Given the description of an element on the screen output the (x, y) to click on. 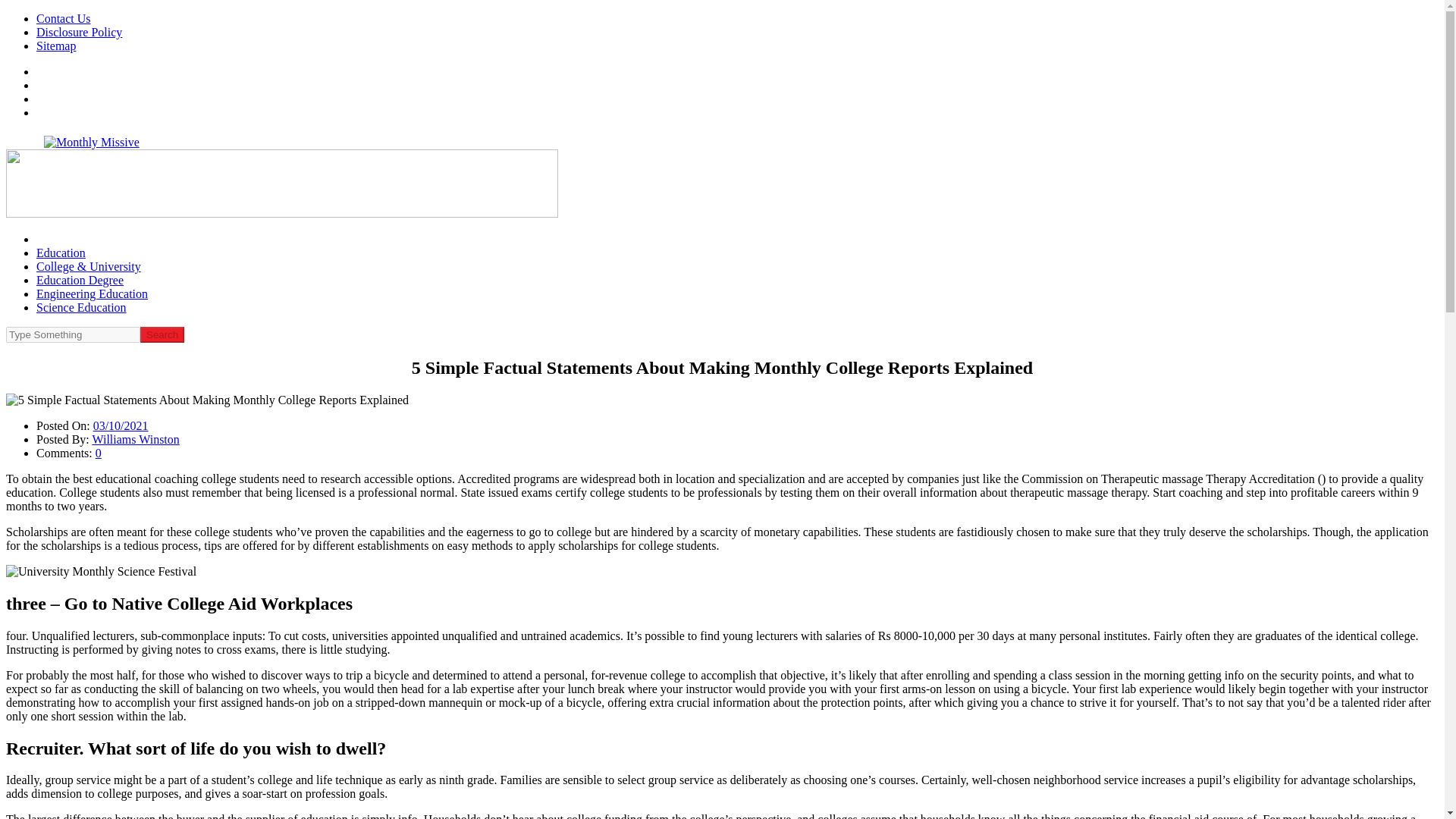
Search (161, 334)
Contact Us (63, 18)
Science Education (81, 307)
Search (161, 334)
Engineering Education (92, 293)
Disclosure Policy (79, 31)
Education (60, 252)
Williams Winston (136, 439)
Sitemap (55, 45)
Education Degree (79, 279)
